Given the description of an element on the screen output the (x, y) to click on. 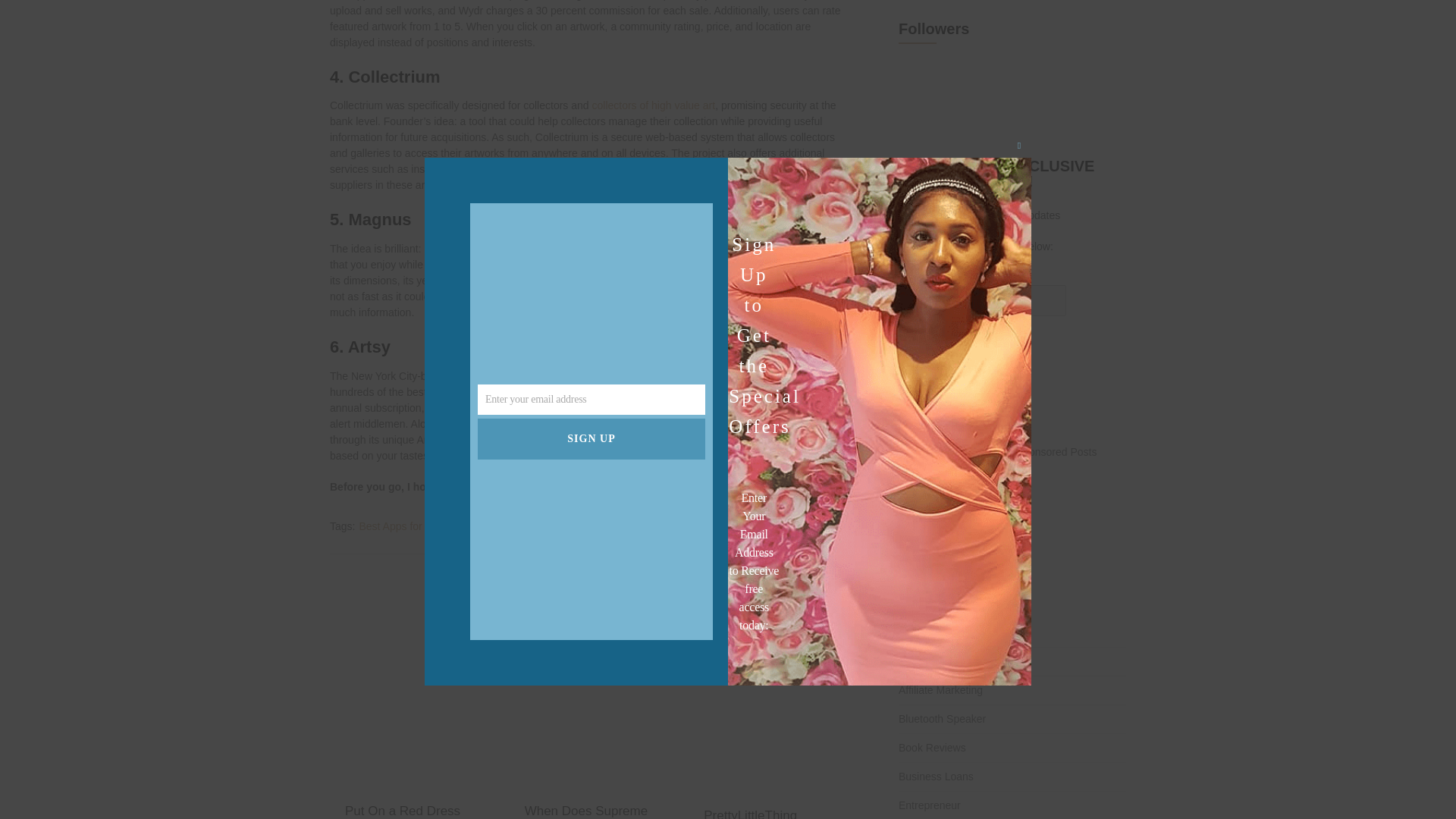
Submit (922, 344)
